Given the description of an element on the screen output the (x, y) to click on. 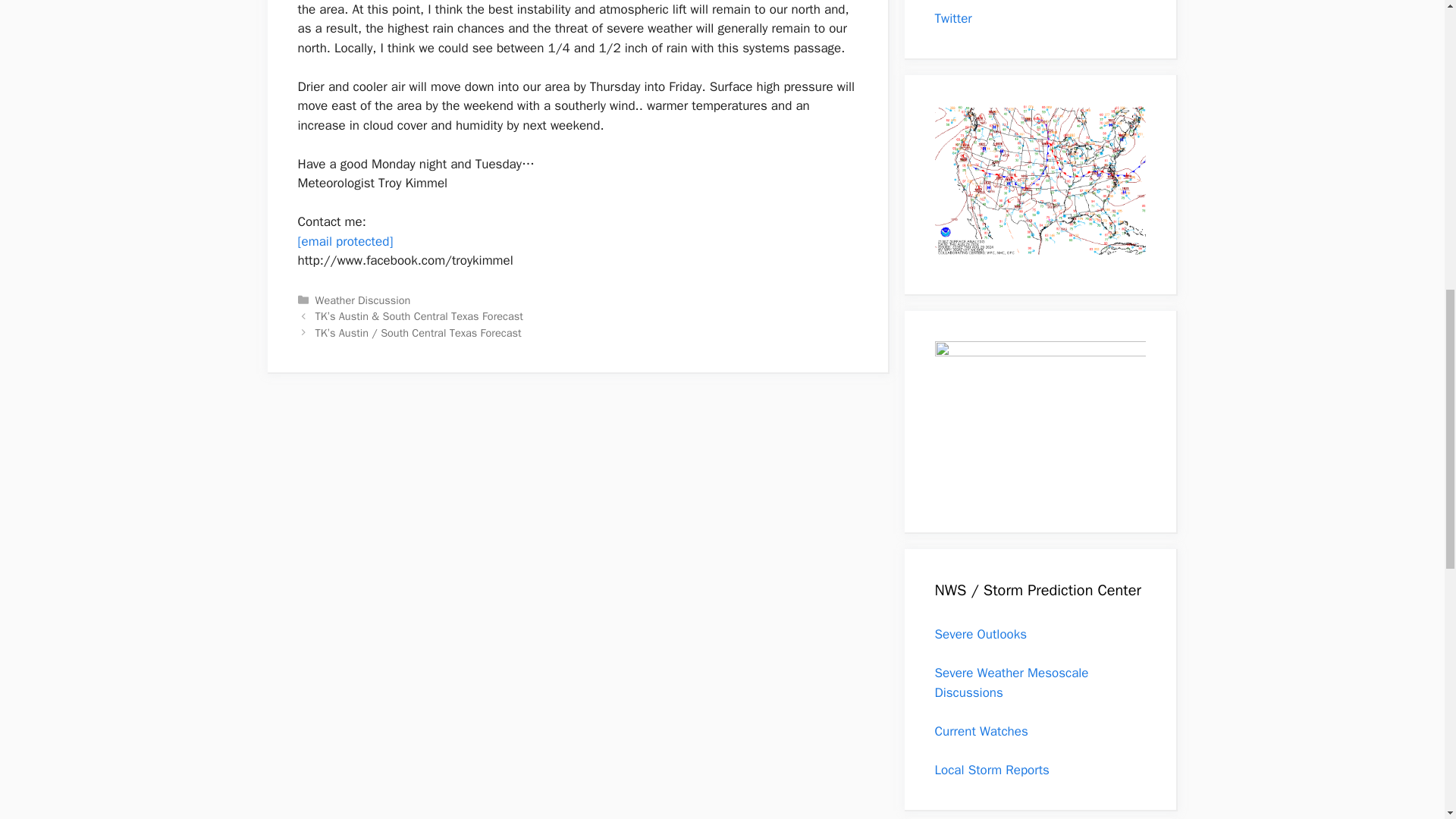
Local Storm Reports (991, 770)
Local Storm Reports (991, 770)
Current Watches (980, 731)
Storm Prediction Center Severe Outlooks (980, 634)
Current Watches (980, 731)
Severe Weather Mesoscale Discussions (1010, 683)
Mesoscale Discussions (1010, 683)
Severe Outlooks (980, 634)
Twitter (952, 18)
Weather Discussion (362, 300)
